Given the description of an element on the screen output the (x, y) to click on. 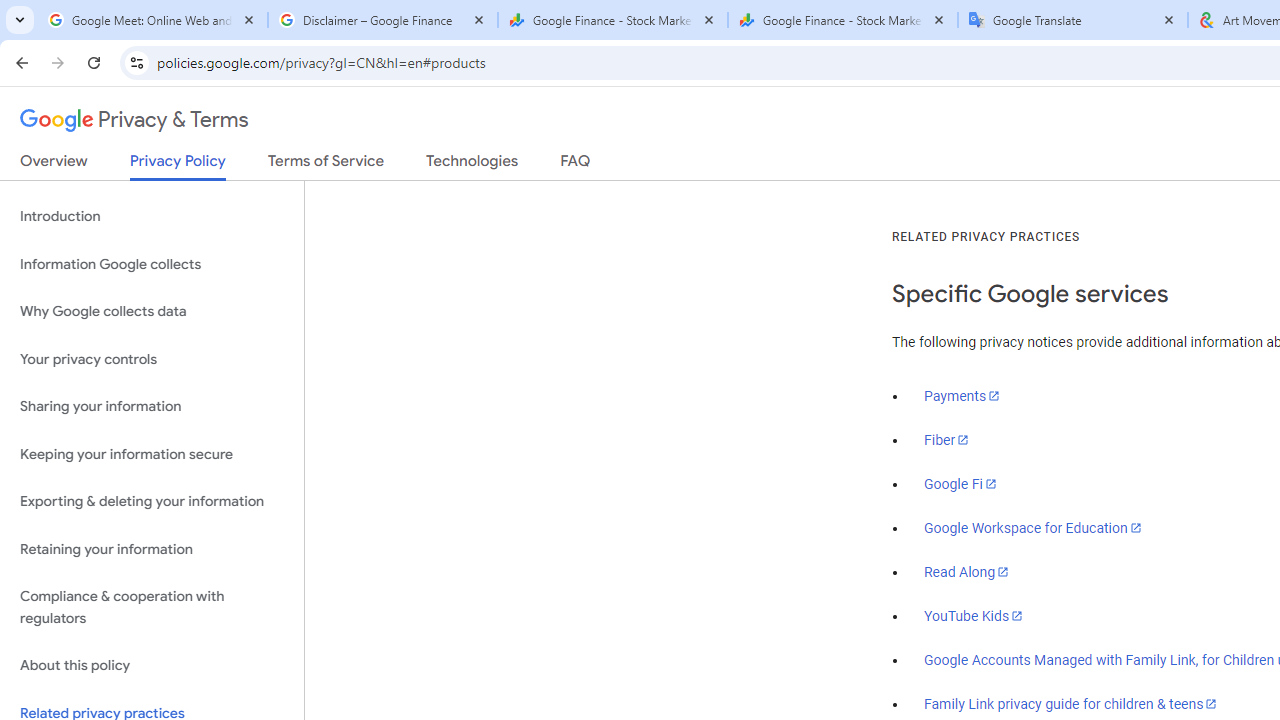
Google Fi (960, 484)
Fiber (947, 440)
Payments (962, 395)
Information Google collects (152, 263)
YouTube Kids (974, 615)
Read Along (966, 572)
